Given the description of an element on the screen output the (x, y) to click on. 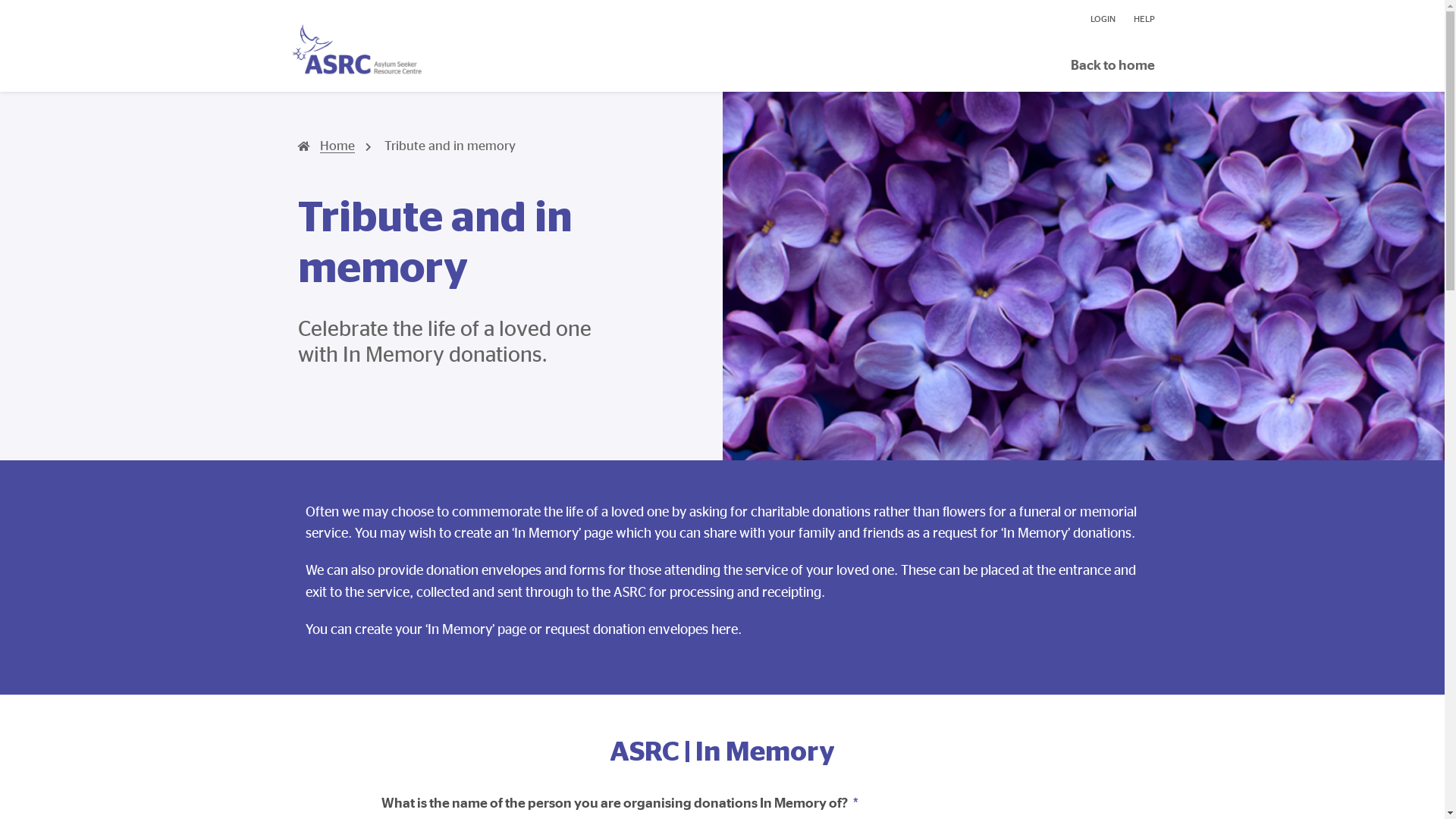
Back to home Element type: text (1112, 65)
LOGIN Element type: text (1102, 18)
 Home Element type: text (325, 145)
HELP Element type: text (1138, 18)
